Given the description of an element on the screen output the (x, y) to click on. 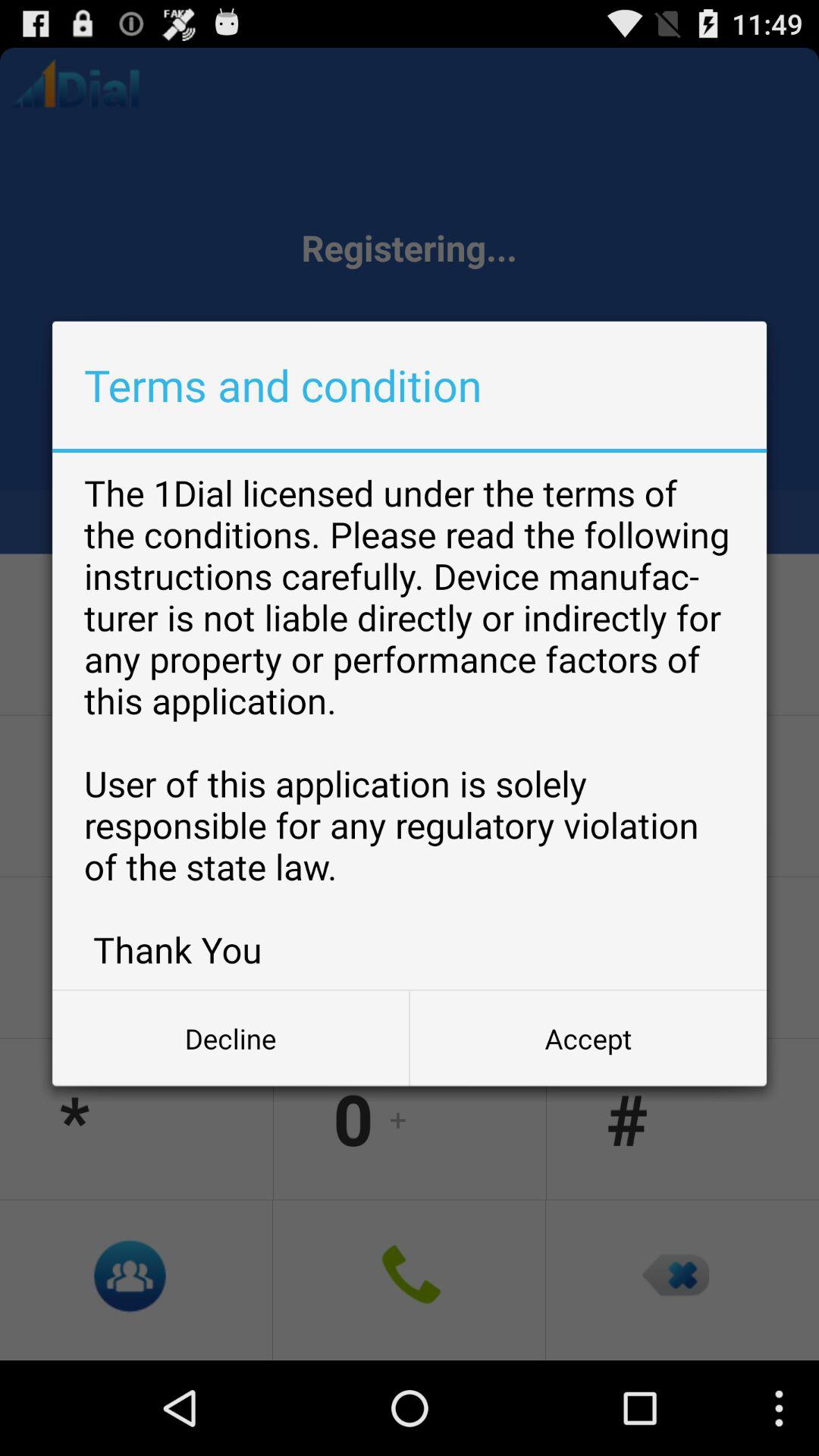
flip to the decline item (230, 1038)
